Given the description of an element on the screen output the (x, y) to click on. 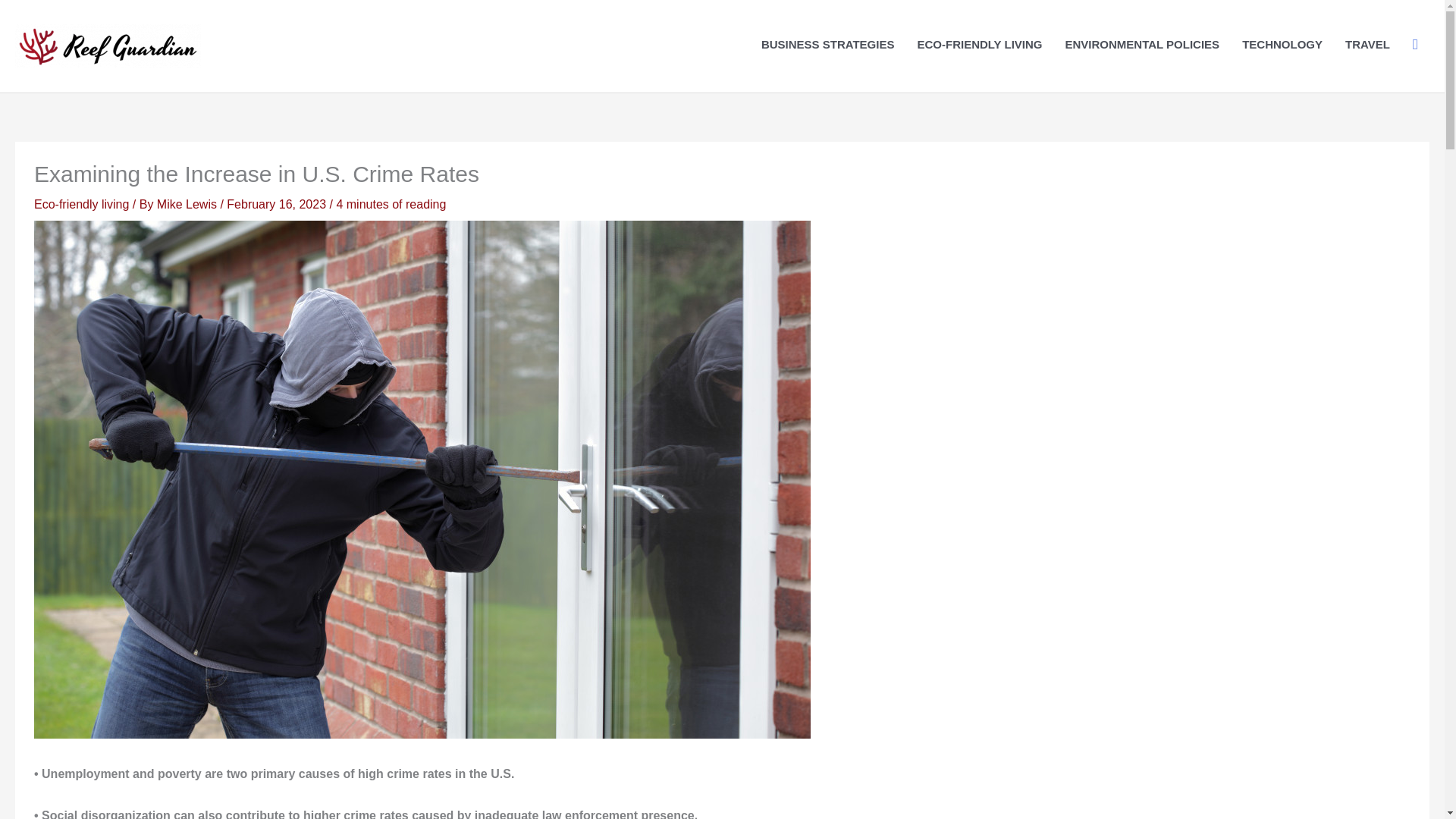
Eco-friendly living (81, 204)
BUSINESS STRATEGIES (827, 44)
ENVIRONMENTAL POLICIES (1142, 44)
TECHNOLOGY (1281, 44)
View all posts by Mike Lewis (189, 204)
TRAVEL (1366, 44)
Mike Lewis (189, 204)
ECO-FRIENDLY LIVING (978, 44)
